Given the description of an element on the screen output the (x, y) to click on. 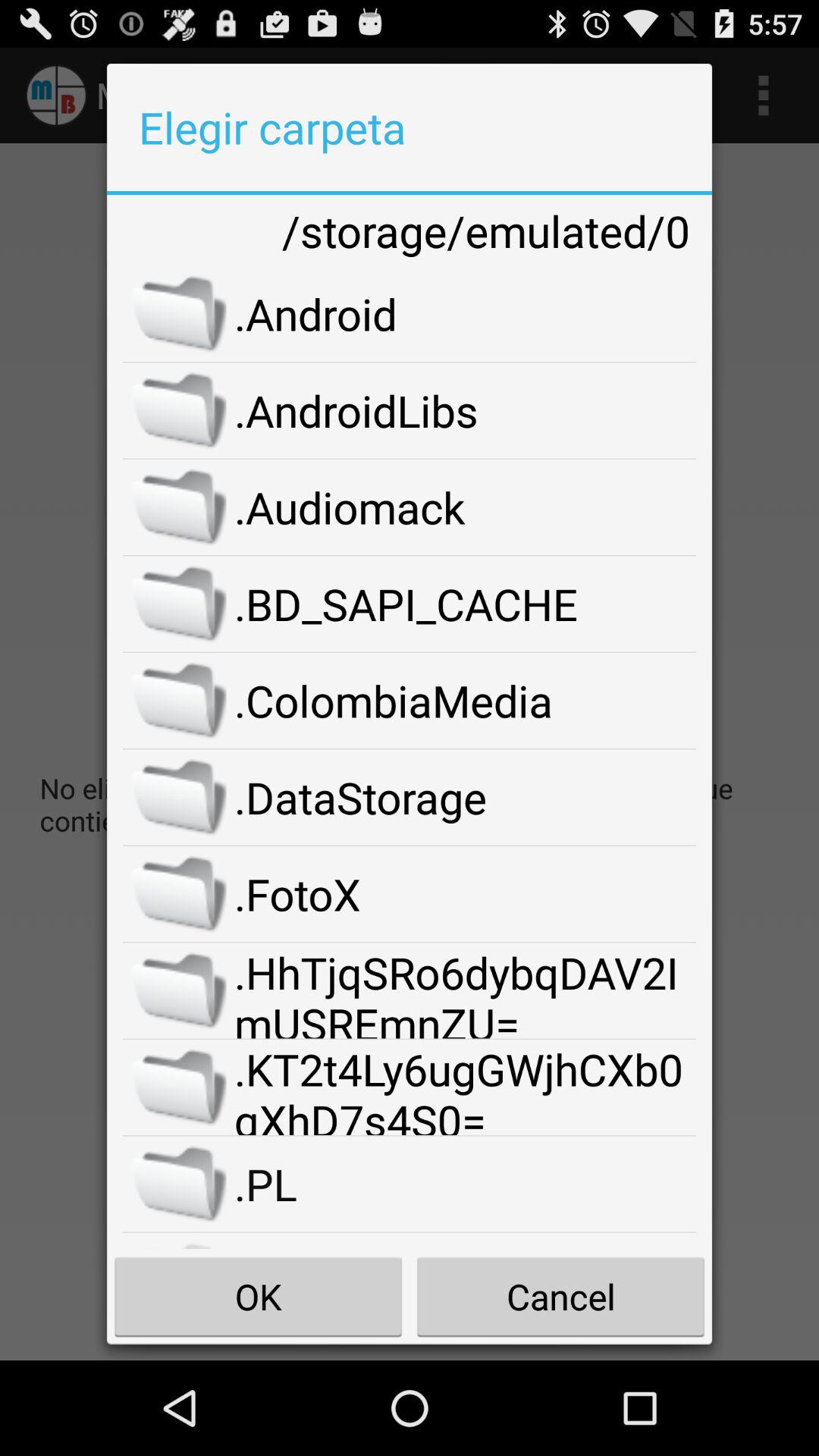
choose the item to the right of the ok item (560, 1296)
